Given the description of an element on the screen output the (x, y) to click on. 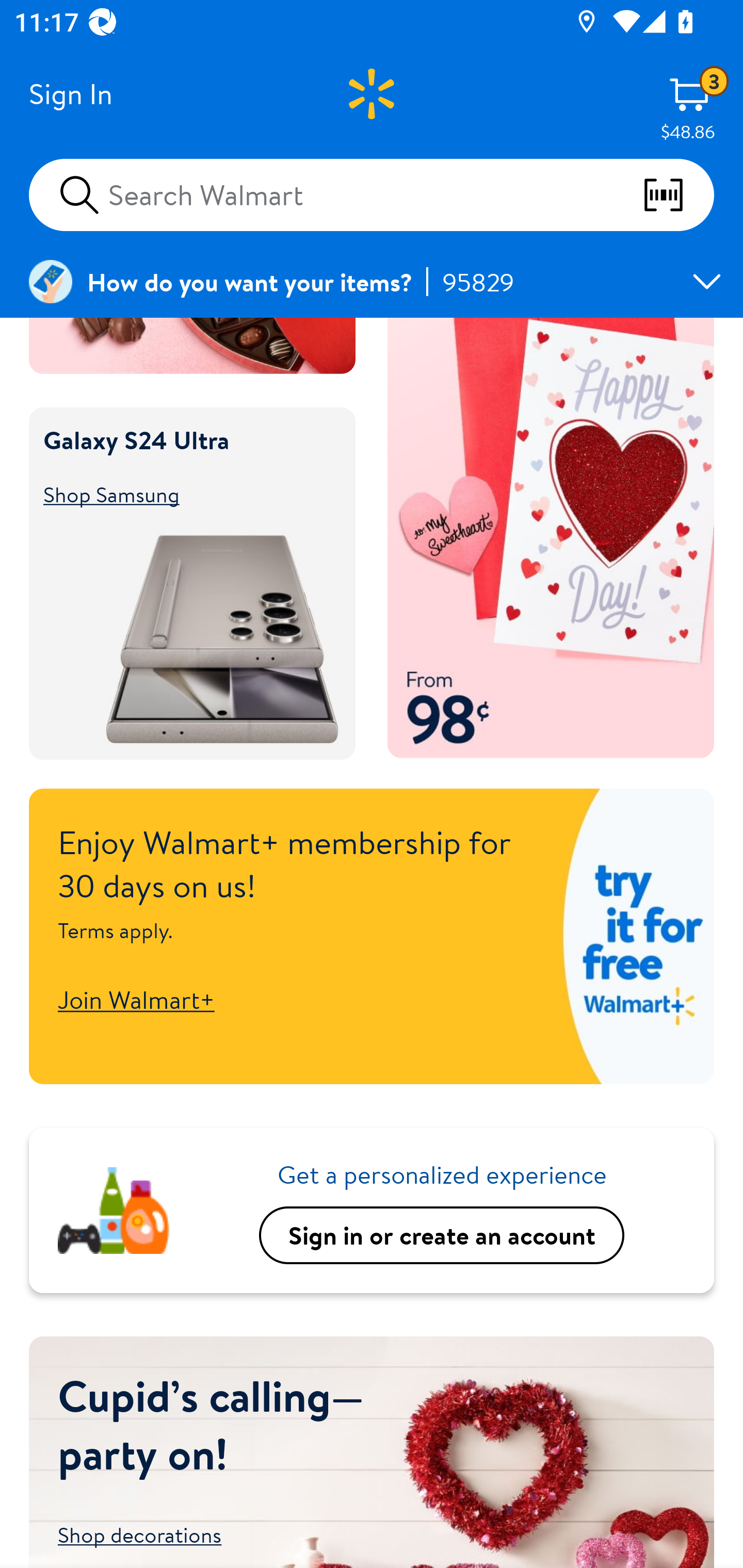
Sign In (70, 93)
Search Walmart scan barcodes qr codes and more (371, 194)
scan barcodes qr codes and more (677, 195)
Say it from the heart  Shop cards Shop cards (550, 538)
Shop Samsung Shop Samsung Galaxy S24 Ultra (183, 494)
Sign in or create an account (441, 1234)
